Given the description of an element on the screen output the (x, y) to click on. 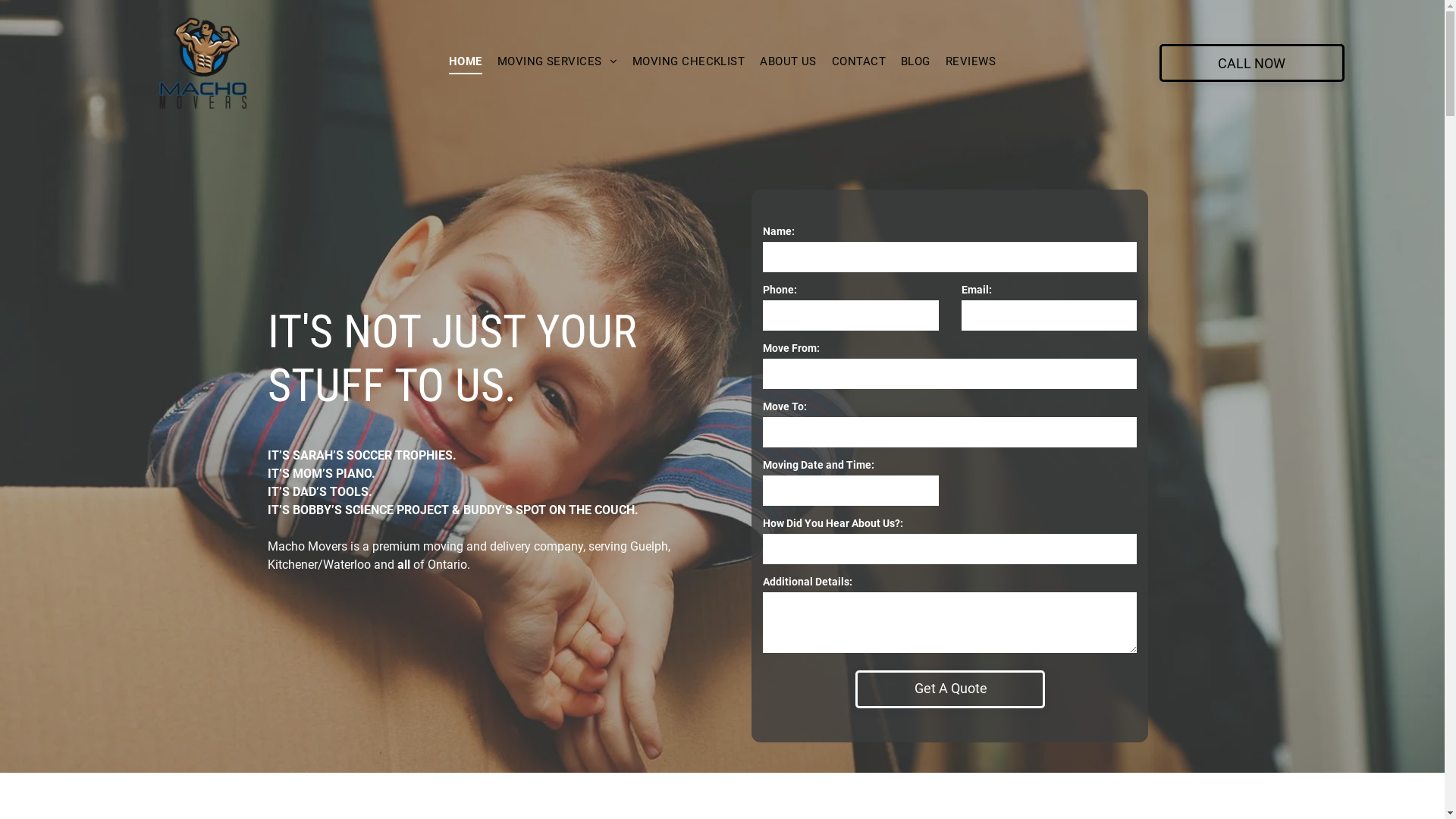
CONTACT Element type: text (858, 61)
MOVING SERVICES Element type: text (556, 61)
REVIEWS Element type: text (970, 61)
ABOUT US Element type: text (788, 61)
MOVING CHECKLIST Element type: text (688, 61)
HOME Element type: text (465, 61)
BLOG Element type: text (915, 61)
Get A Quote Element type: text (950, 687)
CALL NOW Element type: text (1251, 62)
